Given the description of an element on the screen output the (x, y) to click on. 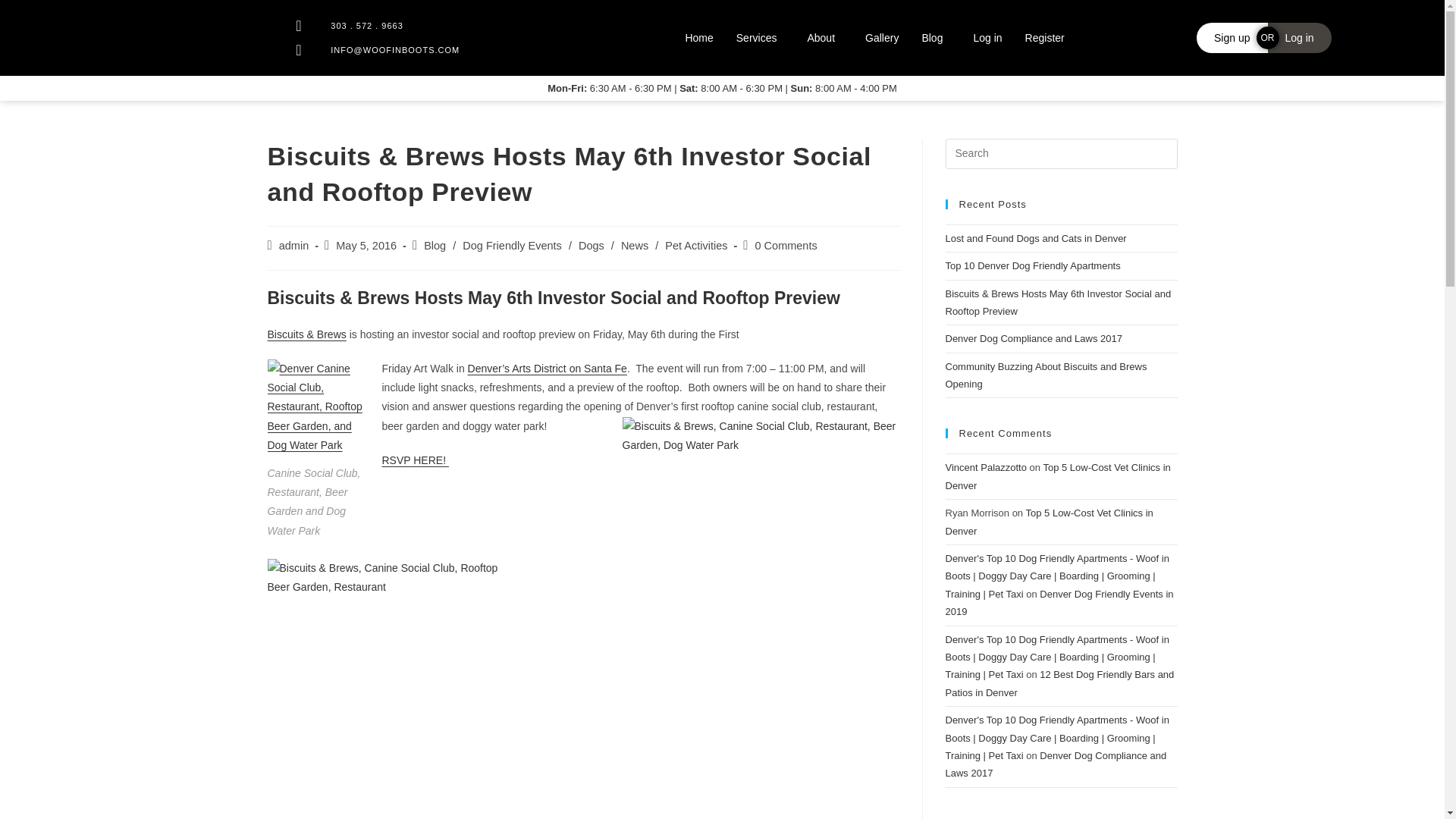
About (823, 37)
Pet Activities (695, 245)
Dogs (591, 245)
Sign up (1231, 37)
0 Comments (785, 245)
Posts by admin (293, 245)
303 . 572 . 9663 (416, 25)
Blog (434, 245)
Home (697, 37)
News (634, 245)
admin (293, 245)
Blog (935, 37)
Log in (986, 37)
Gallery (881, 37)
Log in (1300, 37)
